Given the description of an element on the screen output the (x, y) to click on. 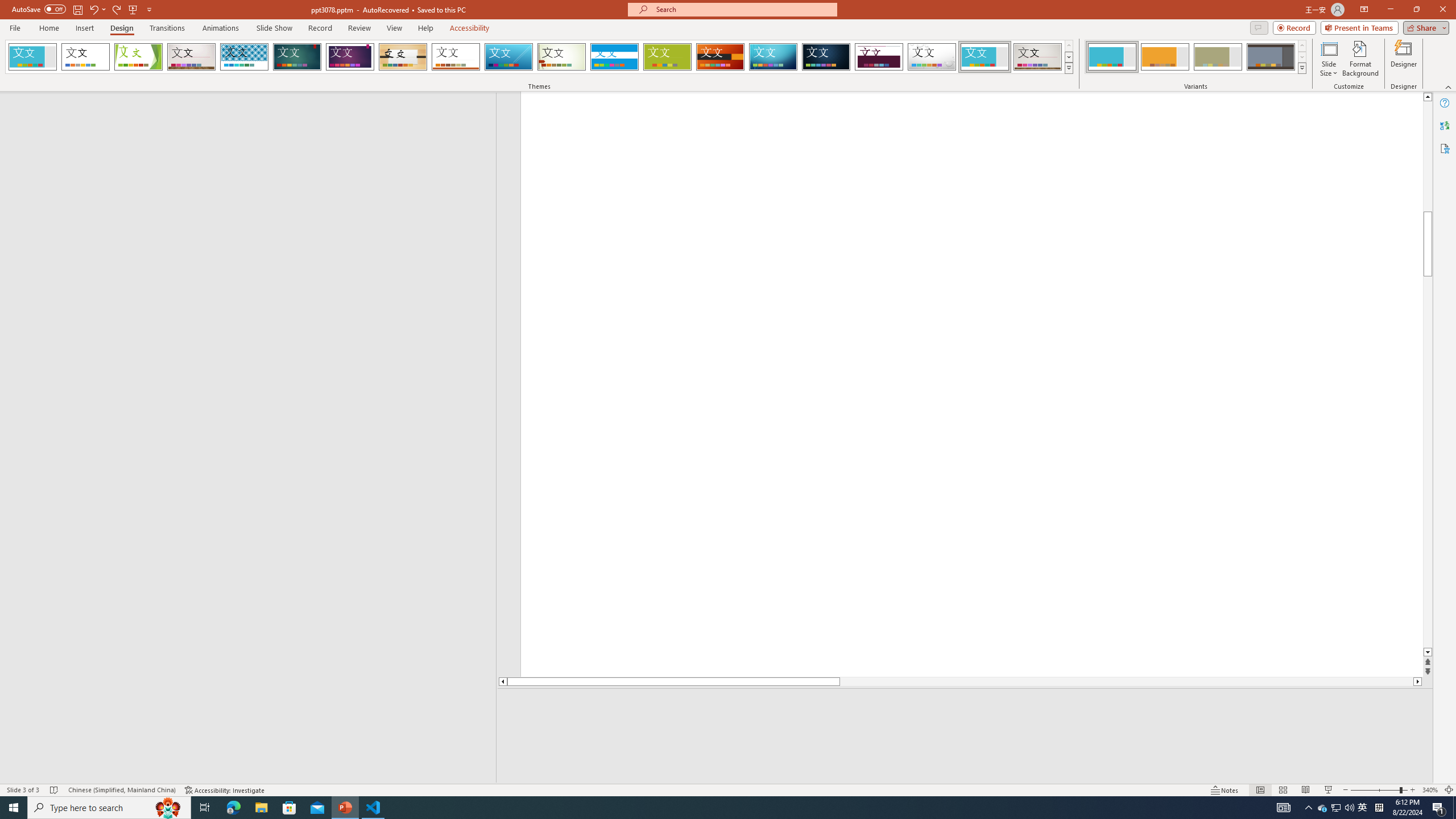
Wisp (561, 56)
Frame Variant 3 (1217, 56)
Themes (1068, 67)
Frame Variant 4 (1270, 56)
Facet (138, 56)
Circuit (772, 56)
TextBox 61 (1149, 231)
